Given the description of an element on the screen output the (x, y) to click on. 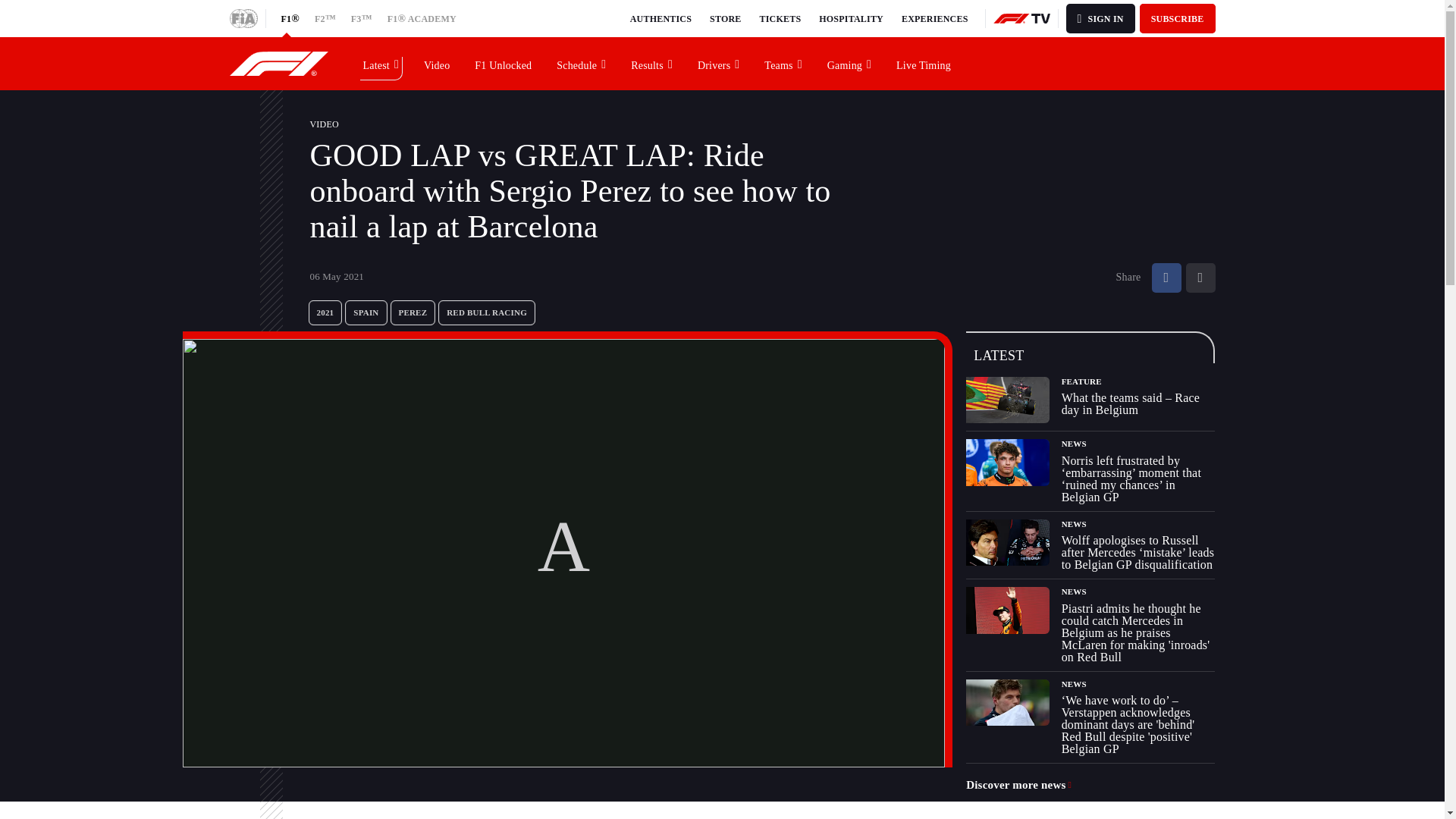
Schedule (581, 63)
2021 (324, 312)
Live Timing (923, 63)
RED BULL RACING (486, 312)
AUTHENTICS (660, 18)
SUBSCRIBE (1177, 18)
EXPERIENCES (934, 18)
STORE (725, 18)
Video (437, 63)
PEREZ (412, 312)
Drivers (718, 63)
TICKETS (781, 18)
Results (651, 63)
